Given the description of an element on the screen output the (x, y) to click on. 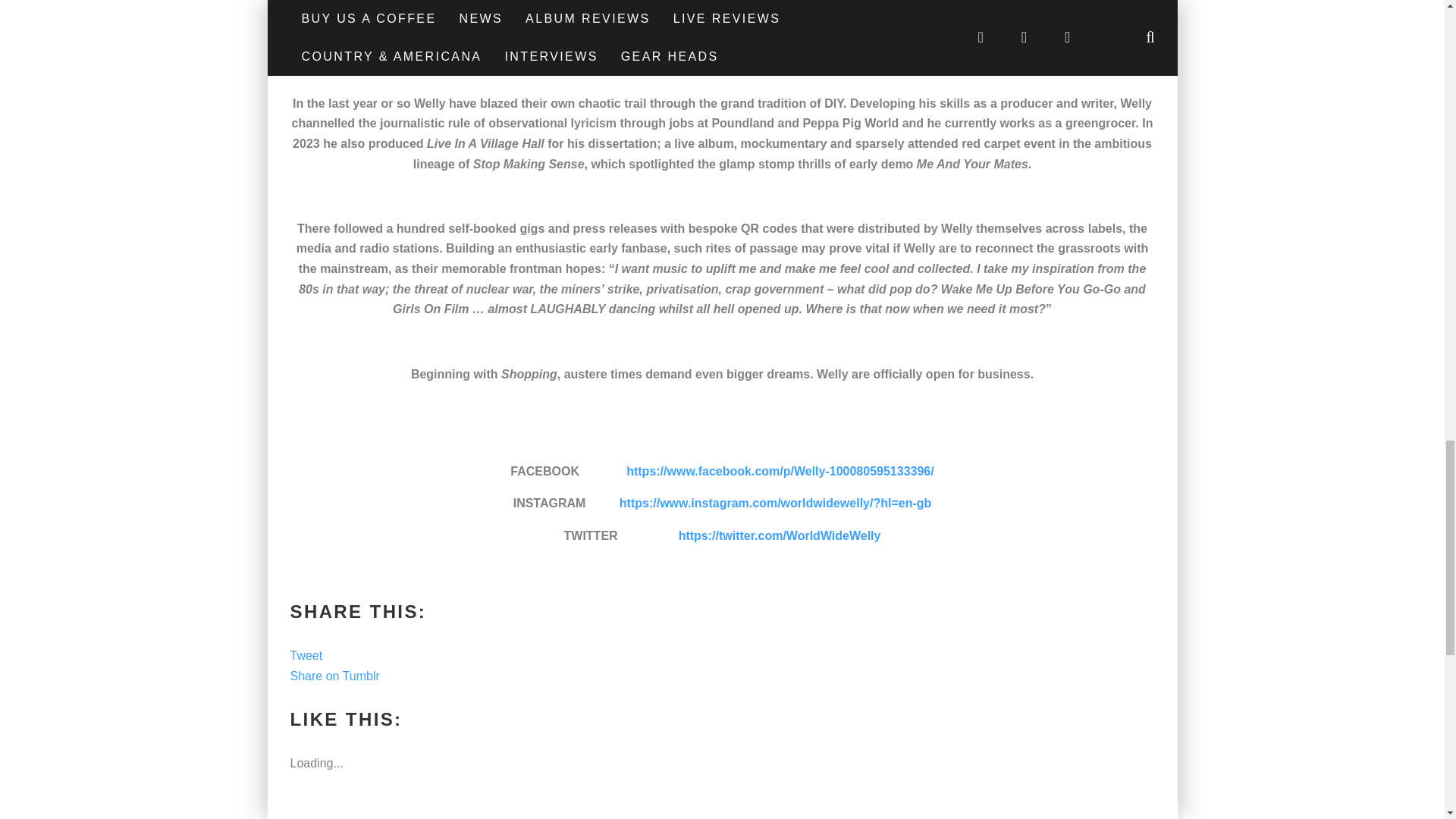
Tweet (305, 655)
Share on Tumblr (333, 675)
Share on Tumblr (333, 675)
